Given the description of an element on the screen output the (x, y) to click on. 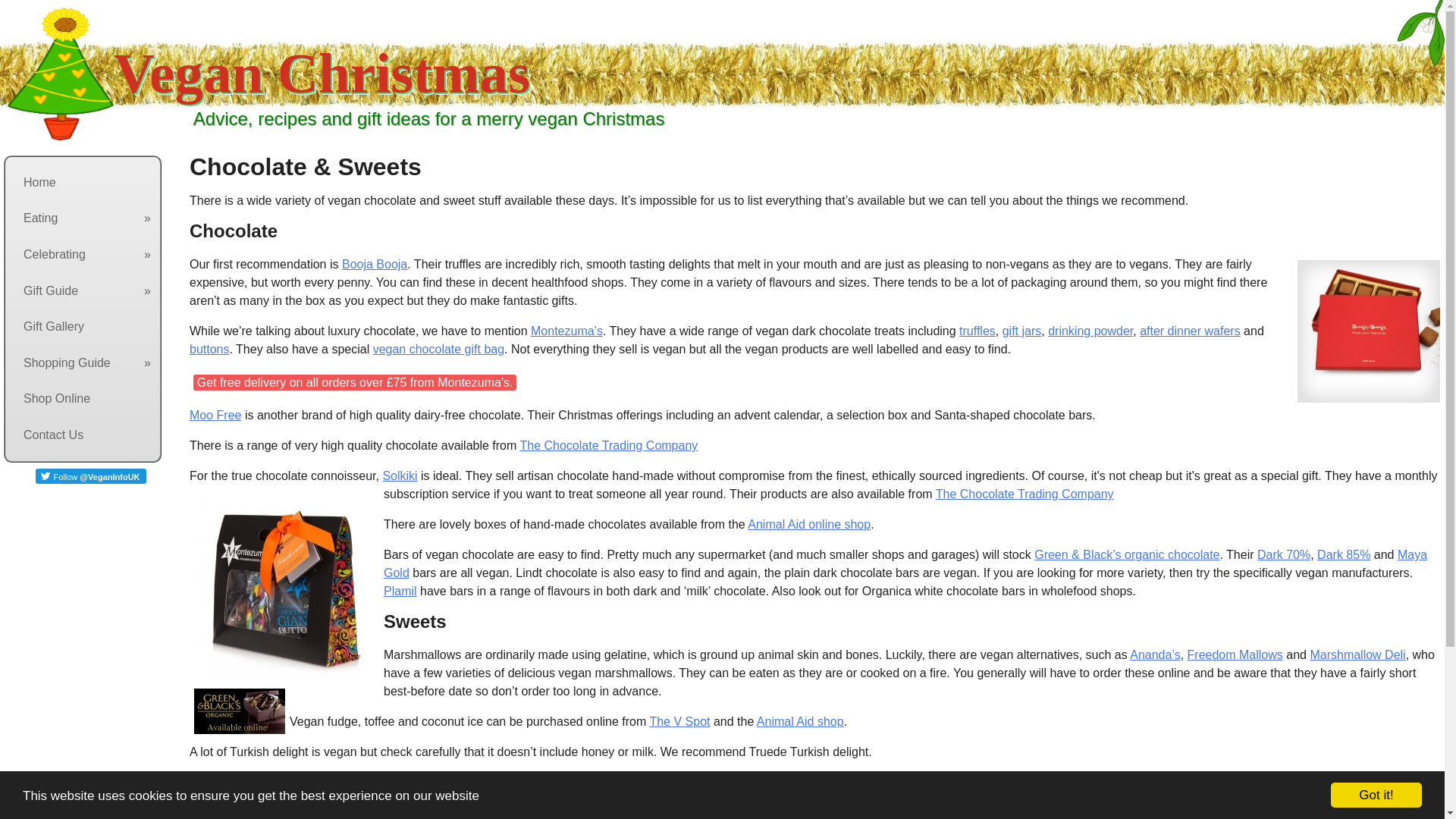
Eating (84, 219)
Home (84, 183)
Celebrating (84, 255)
Gift Guide (84, 291)
